Given the description of an element on the screen output the (x, y) to click on. 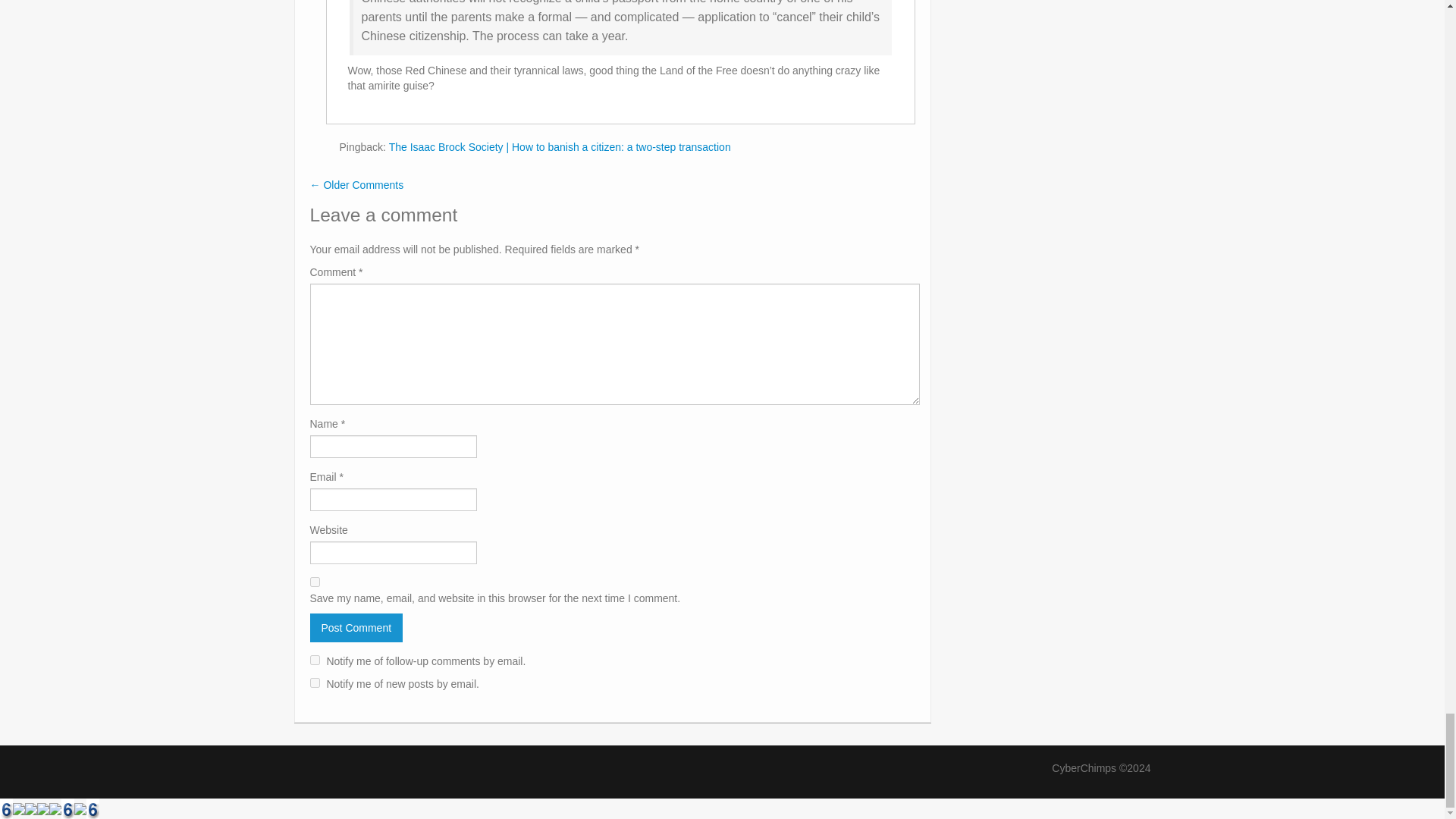
subscribe (313, 682)
Post Comment (355, 627)
subscribe (313, 660)
yes (313, 582)
